Given the description of an element on the screen output the (x, y) to click on. 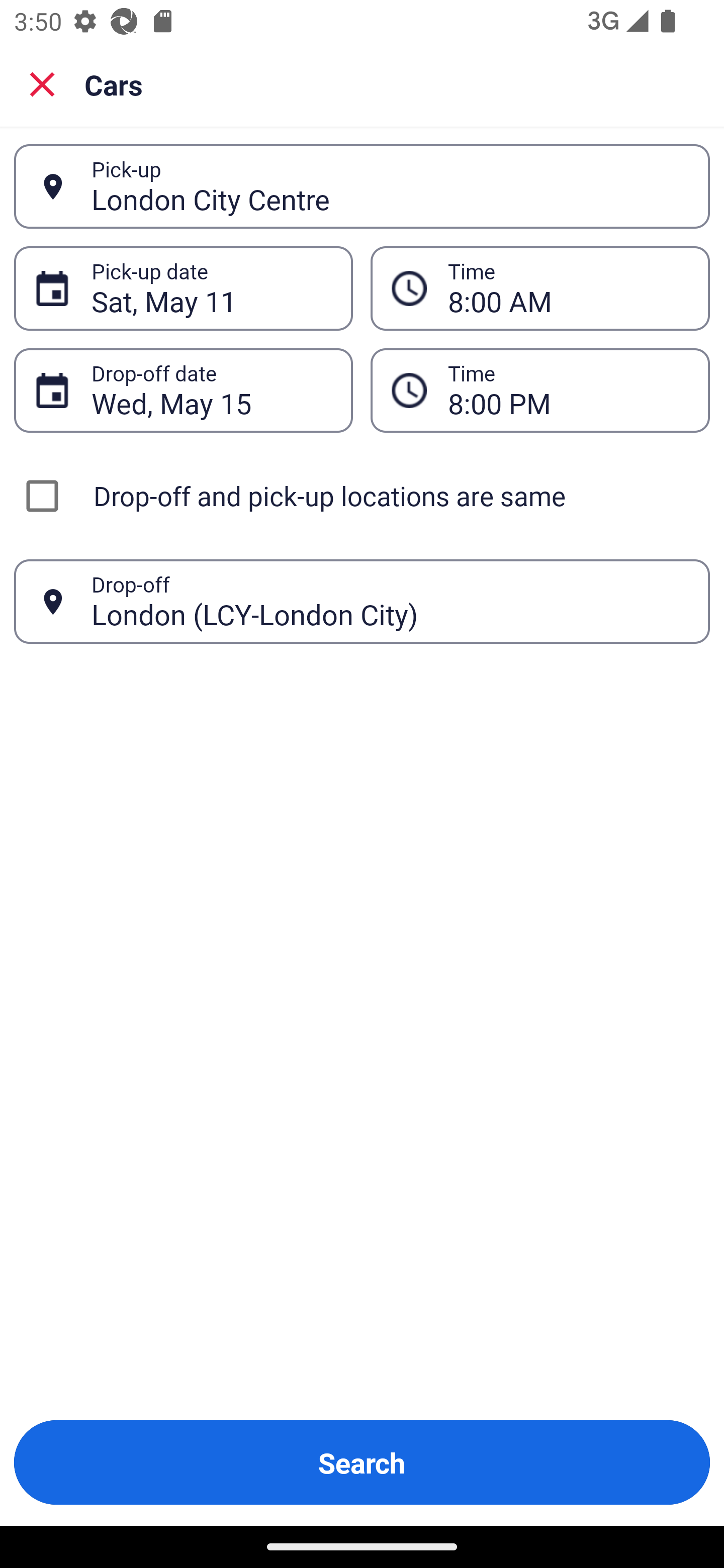
Close search screen (41, 83)
London City Centre Pick-up (361, 186)
London City Centre (389, 186)
Sat, May 11 Pick-up date (183, 288)
8:00 AM (540, 288)
Sat, May 11 (211, 288)
8:00 AM (568, 288)
Wed, May 15 Drop-off date (183, 390)
8:00 PM (540, 390)
Wed, May 15 (211, 390)
8:00 PM (568, 390)
Drop-off and pick-up locations are same (361, 495)
London (LCY-London City) Drop-off (361, 601)
London (LCY-London City) (389, 601)
Search Button Search (361, 1462)
